Given the description of an element on the screen output the (x, y) to click on. 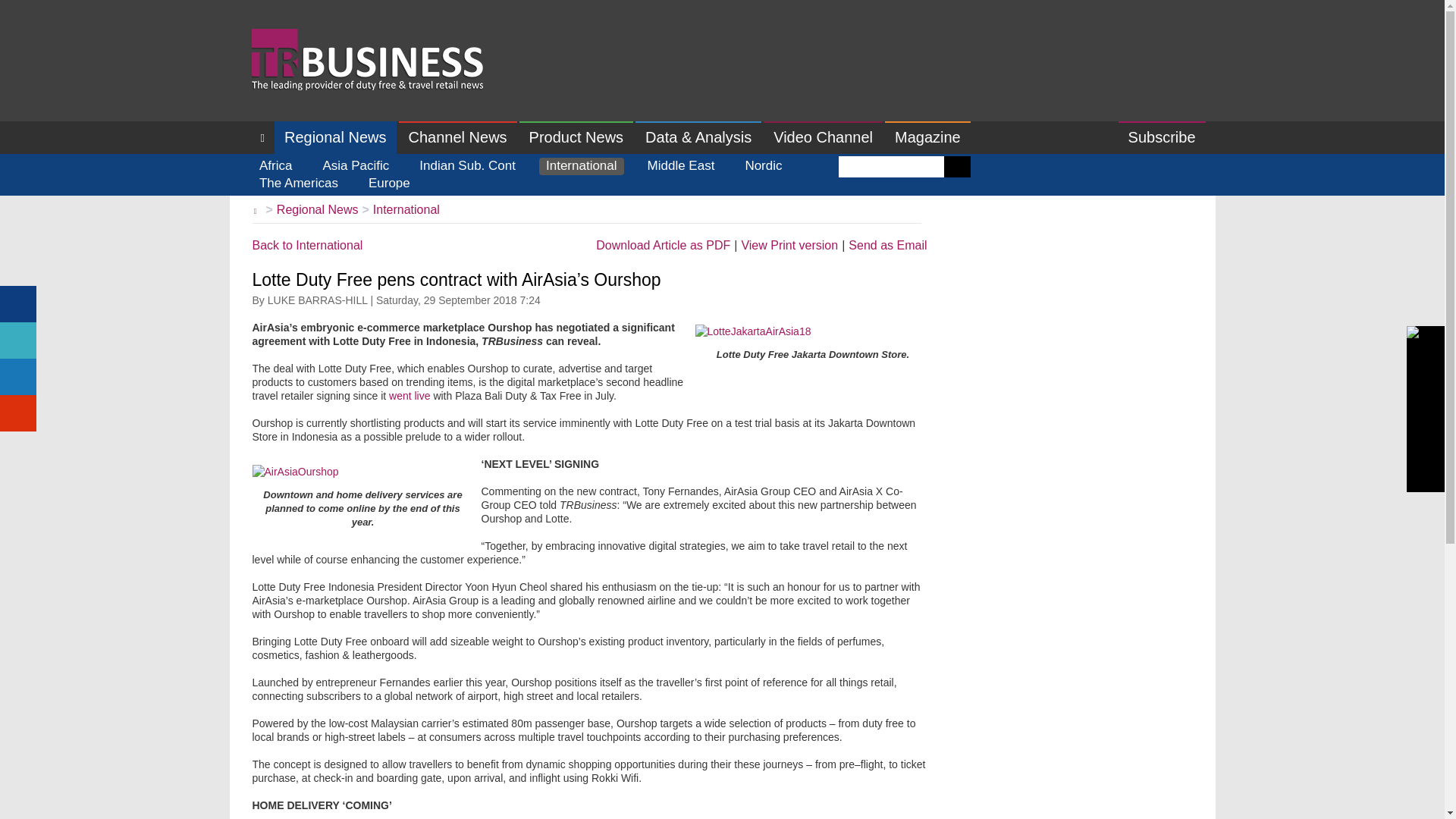
Search (957, 166)
Africa (274, 166)
Search (957, 166)
Regional News (317, 209)
Europe (388, 183)
Search for: (890, 166)
International (405, 209)
Channel News (457, 137)
Indian Sub. Cont (467, 166)
LotteJakartaAirAsia18 (752, 331)
AirAsiaOurshop (294, 471)
Asia Pacific (355, 166)
Regional News (335, 137)
Print (789, 245)
Search (957, 166)
